Given the description of an element on the screen output the (x, y) to click on. 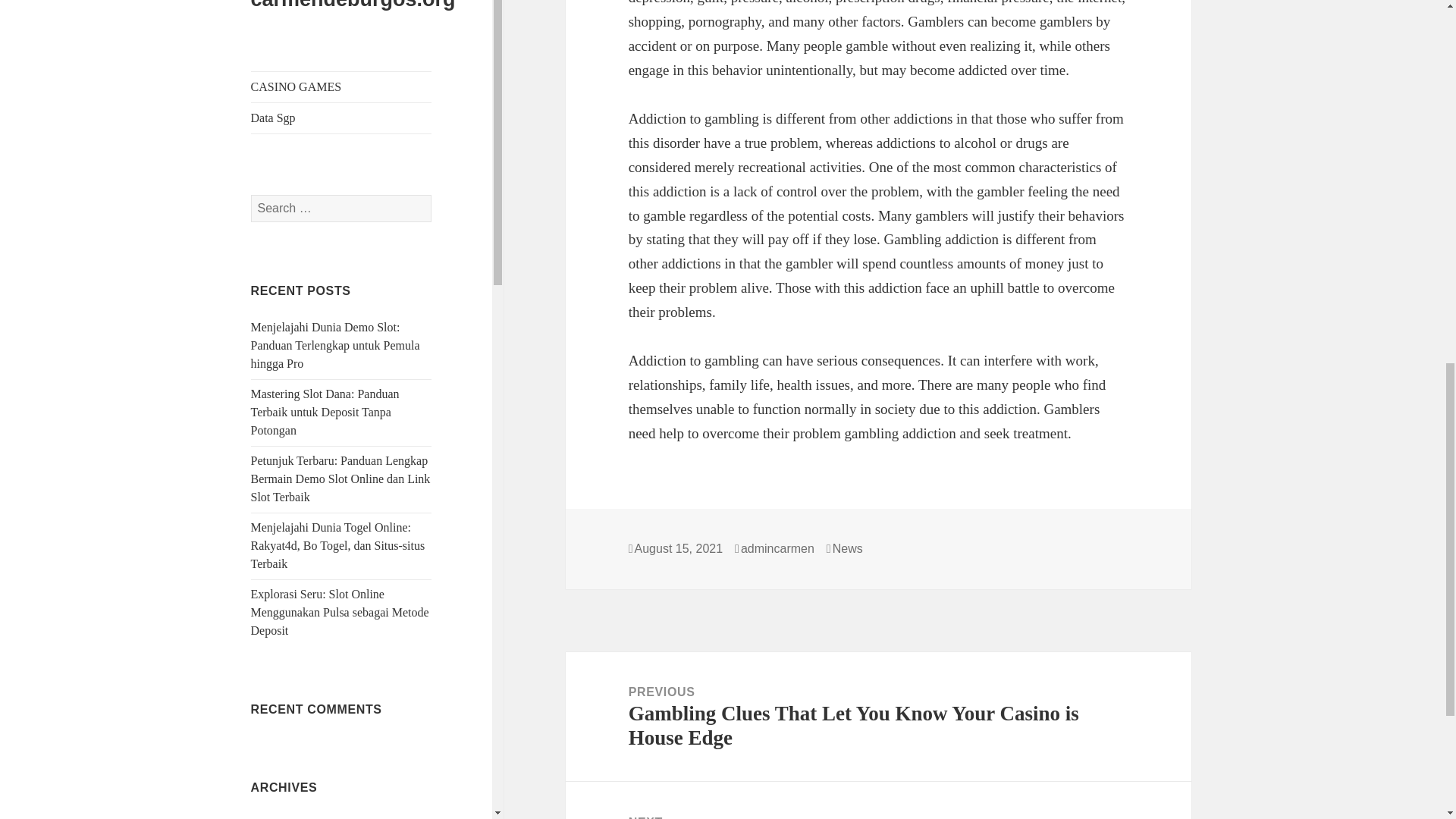
April 2024 (277, 169)
March 2023 (280, 563)
June 2023 (274, 472)
January 2024 (282, 259)
October 2022 (283, 715)
May 2024 (274, 138)
July 2023 (274, 441)
April 2023 (277, 533)
July 2022 (274, 806)
October 2023 (283, 350)
November 2023 (290, 320)
May 2023 (274, 502)
November 2022 (290, 684)
June 2024 (274, 108)
February 2023 (285, 594)
